Given the description of an element on the screen output the (x, y) to click on. 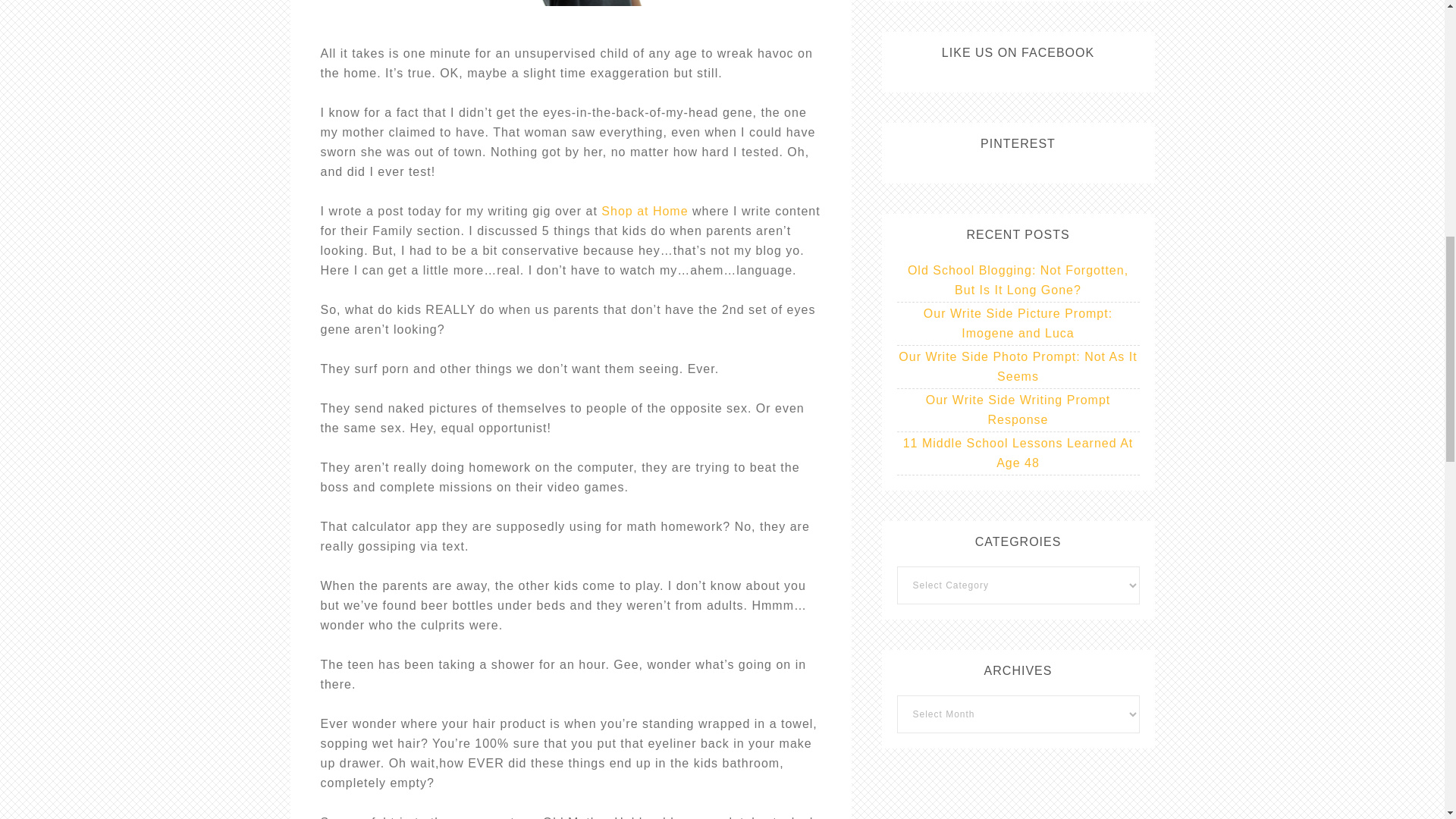
shopathome.com (644, 210)
Shop at Home (644, 210)
Angry teen flipping off the middle finger bird gesture (570, 2)
